Given the description of an element on the screen output the (x, y) to click on. 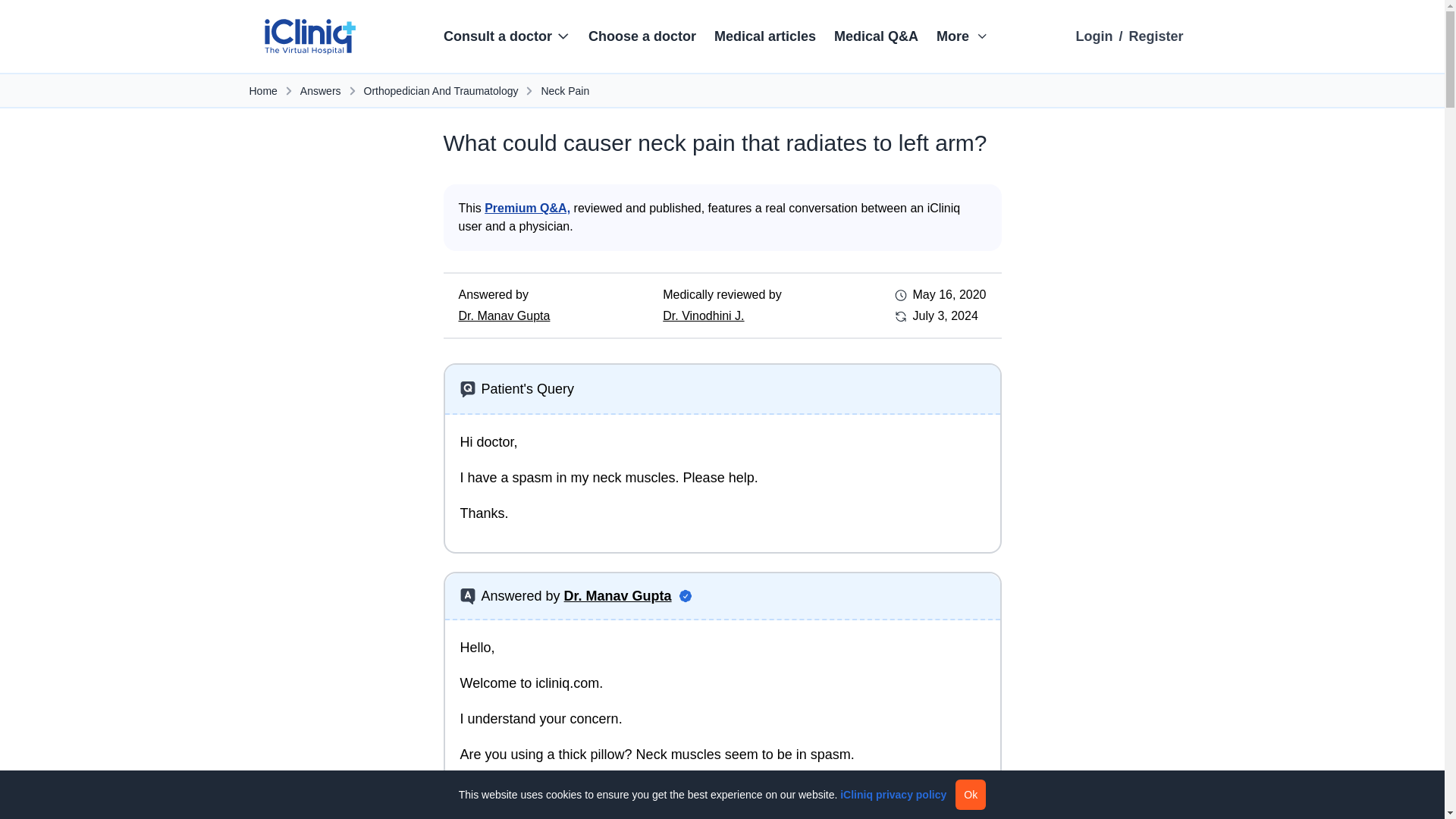
Choose a doctor (641, 36)
Medical articles (764, 36)
Login (1093, 36)
Register (1155, 36)
